Given the description of an element on the screen output the (x, y) to click on. 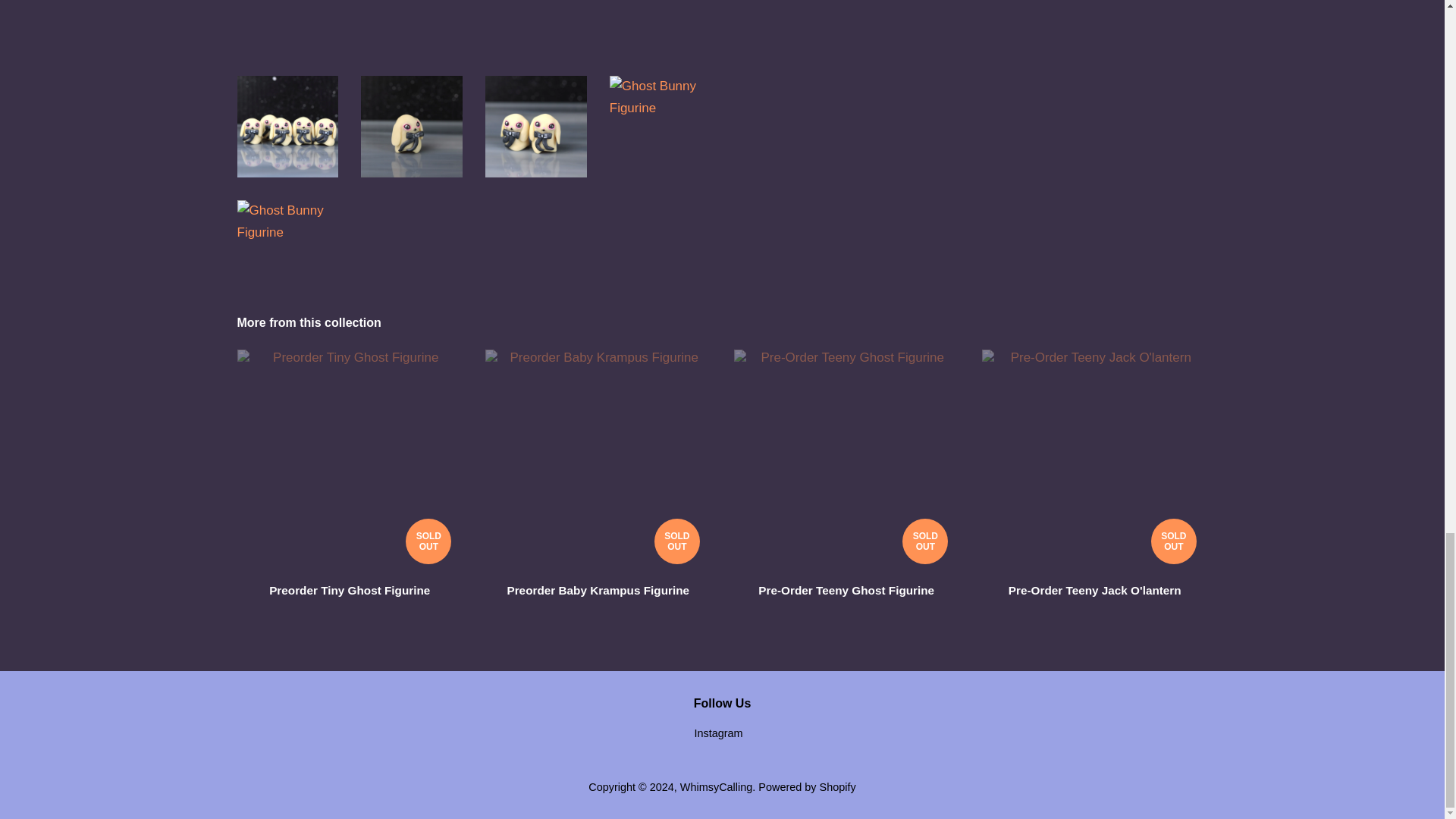
WhimsyCalling (715, 787)
WhimsyCalling on Instagram (718, 733)
Powered by Shopify (807, 787)
Instagram (718, 733)
